Given the description of an element on the screen output the (x, y) to click on. 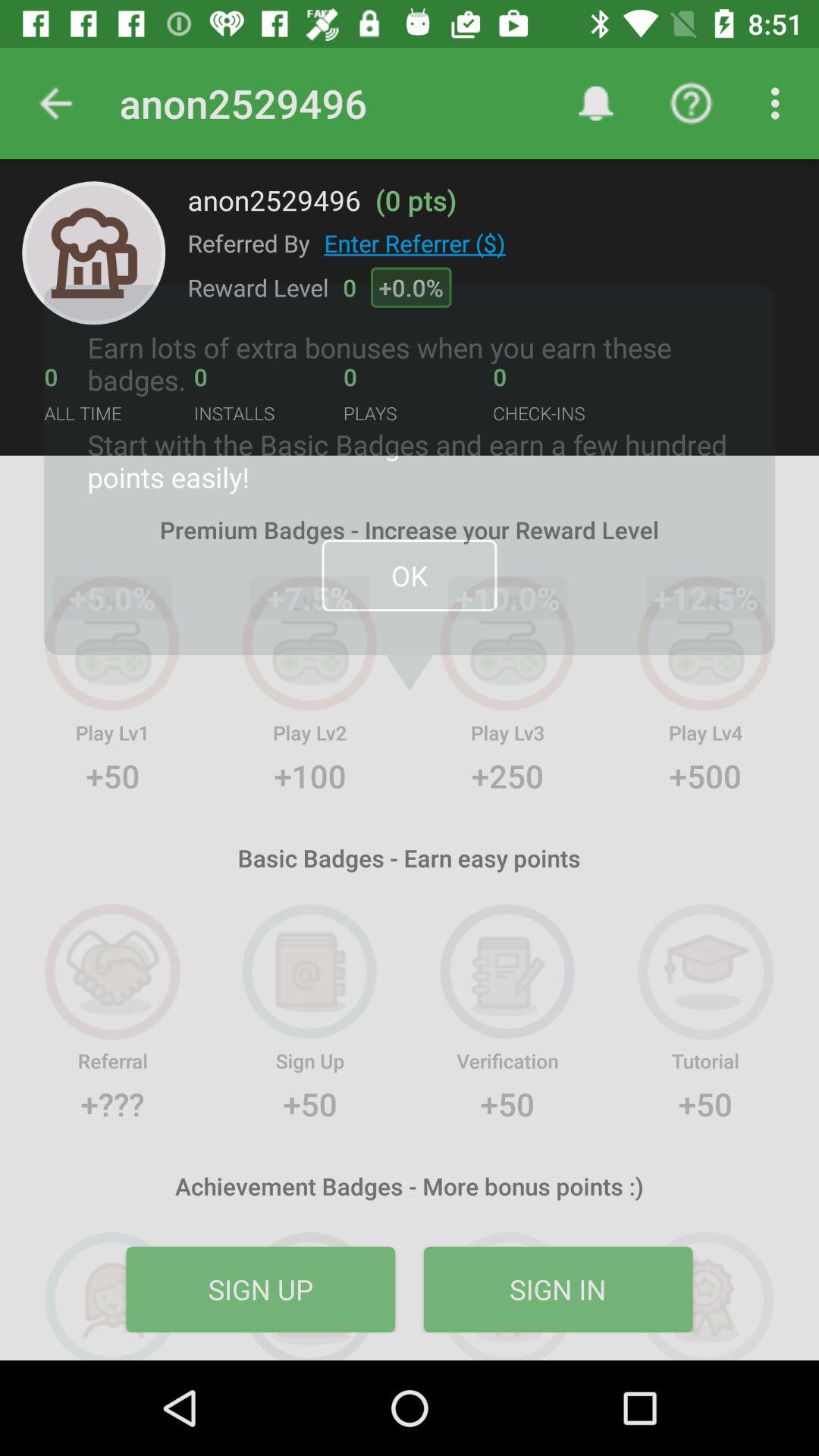
select sign up beside sign in (260, 1289)
select the text which is in blue color (415, 243)
select the circular shaped image on the web page (93, 252)
icon next to bell icon at the top right corner of the page (691, 103)
